Given the description of an element on the screen output the (x, y) to click on. 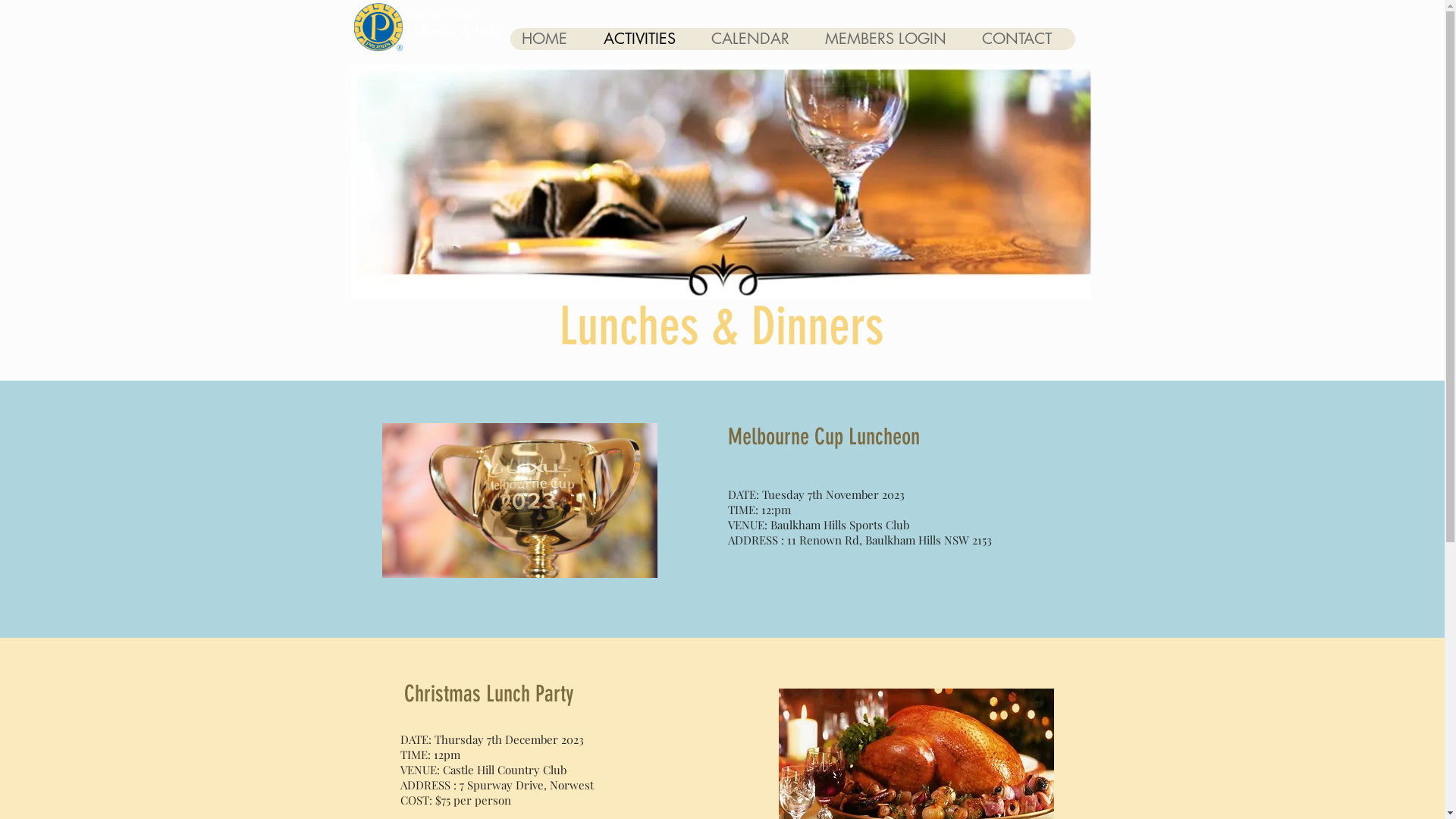
ACTIVITIES Element type: text (645, 39)
HOME Element type: text (549, 39)
MEMBERS LOGIN Element type: text (890, 39)
Probus Club Kellyville & Hills Element type: text (451, 21)
CONTACT Element type: text (1021, 39)
Christmas Pine Tree Element type: hover (519, 500)
CALENDAR Element type: text (755, 39)
